Given the description of an element on the screen output the (x, y) to click on. 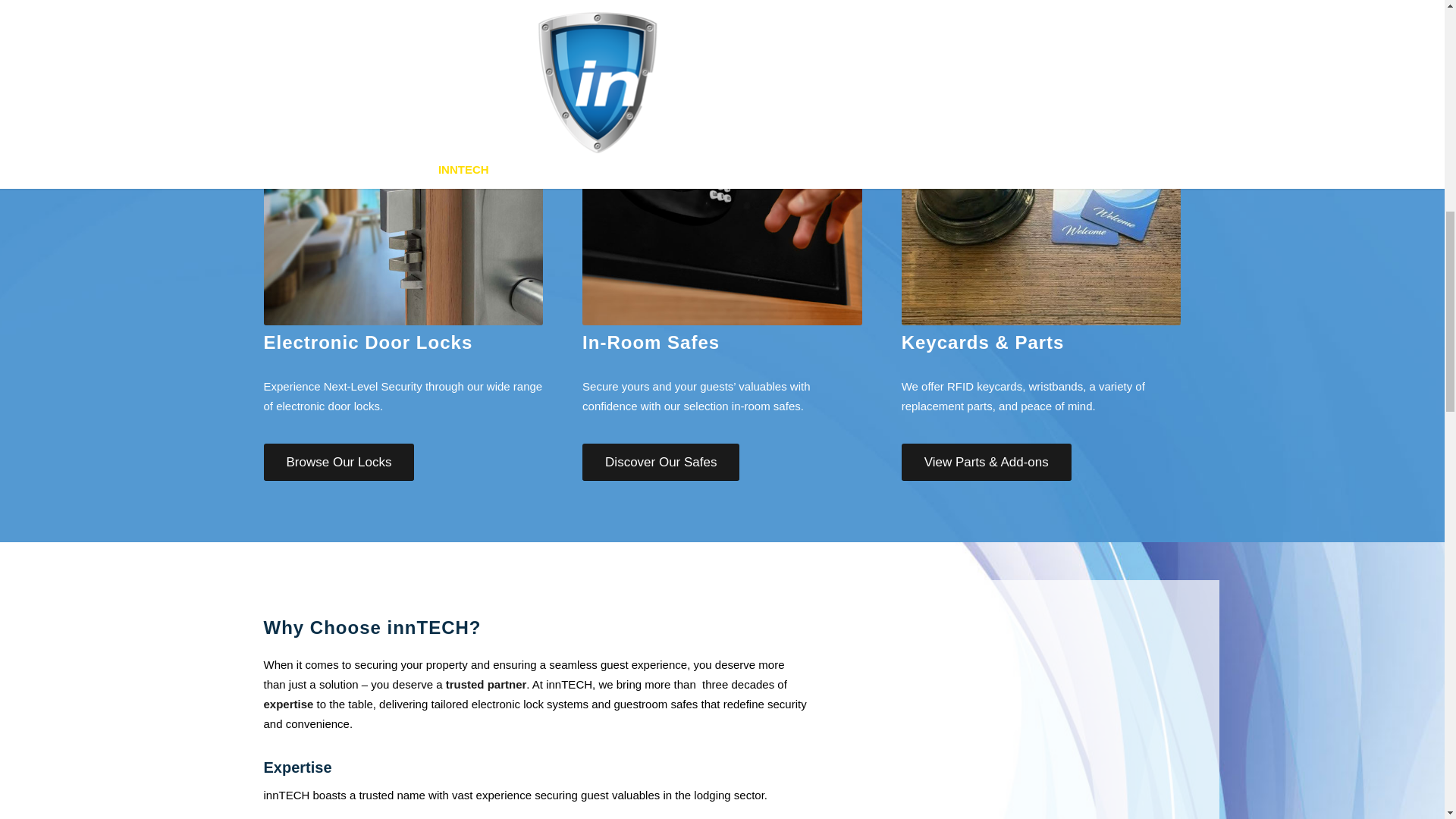
Discover Our Safes (660, 461)
Browse Our Locks (338, 461)
Electronic Door Lock (403, 185)
Hotel Guestroom Safe (721, 185)
